Given the description of an element on the screen output the (x, y) to click on. 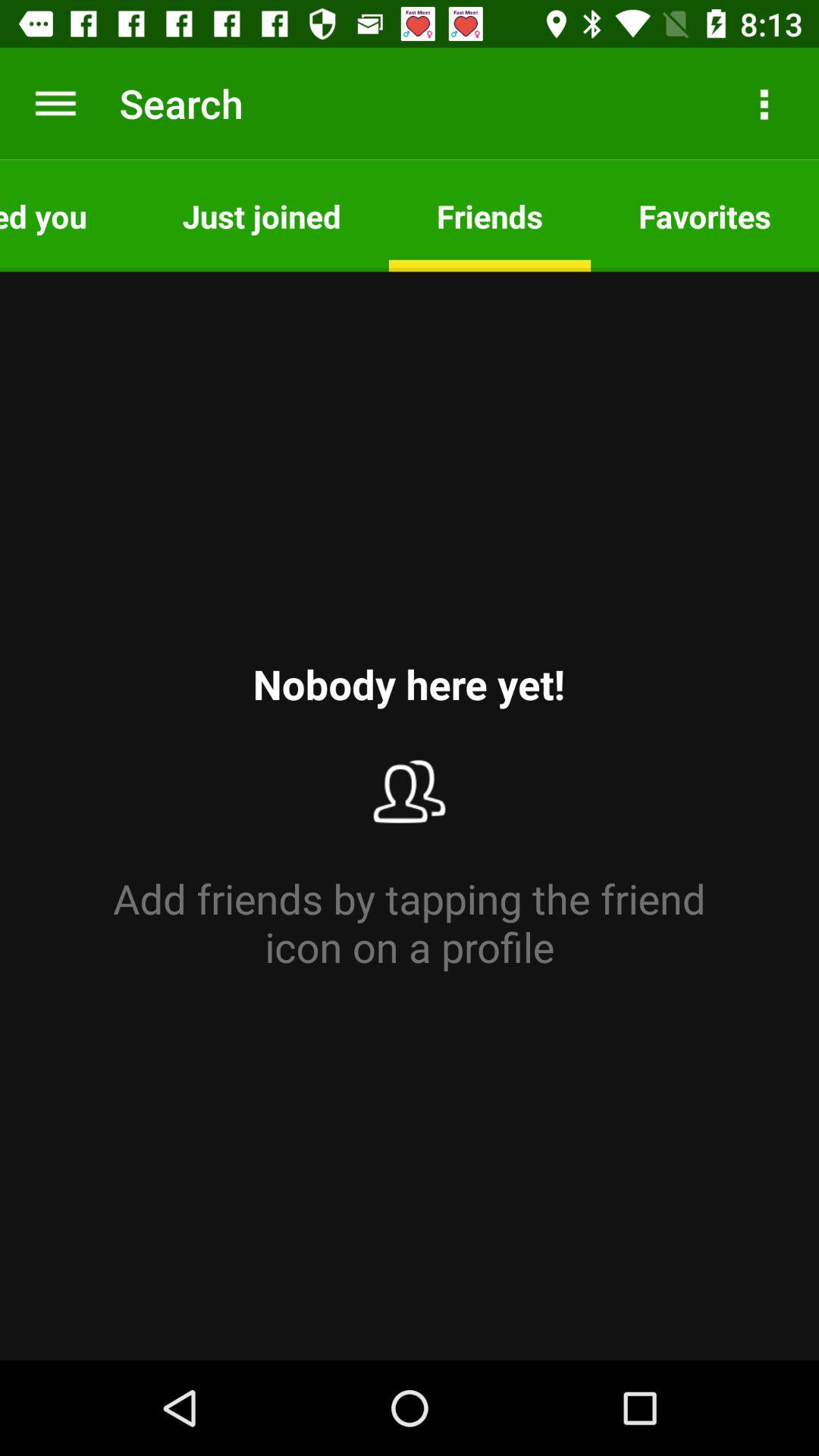
press the app next to friends icon (261, 215)
